Given the description of an element on the screen output the (x, y) to click on. 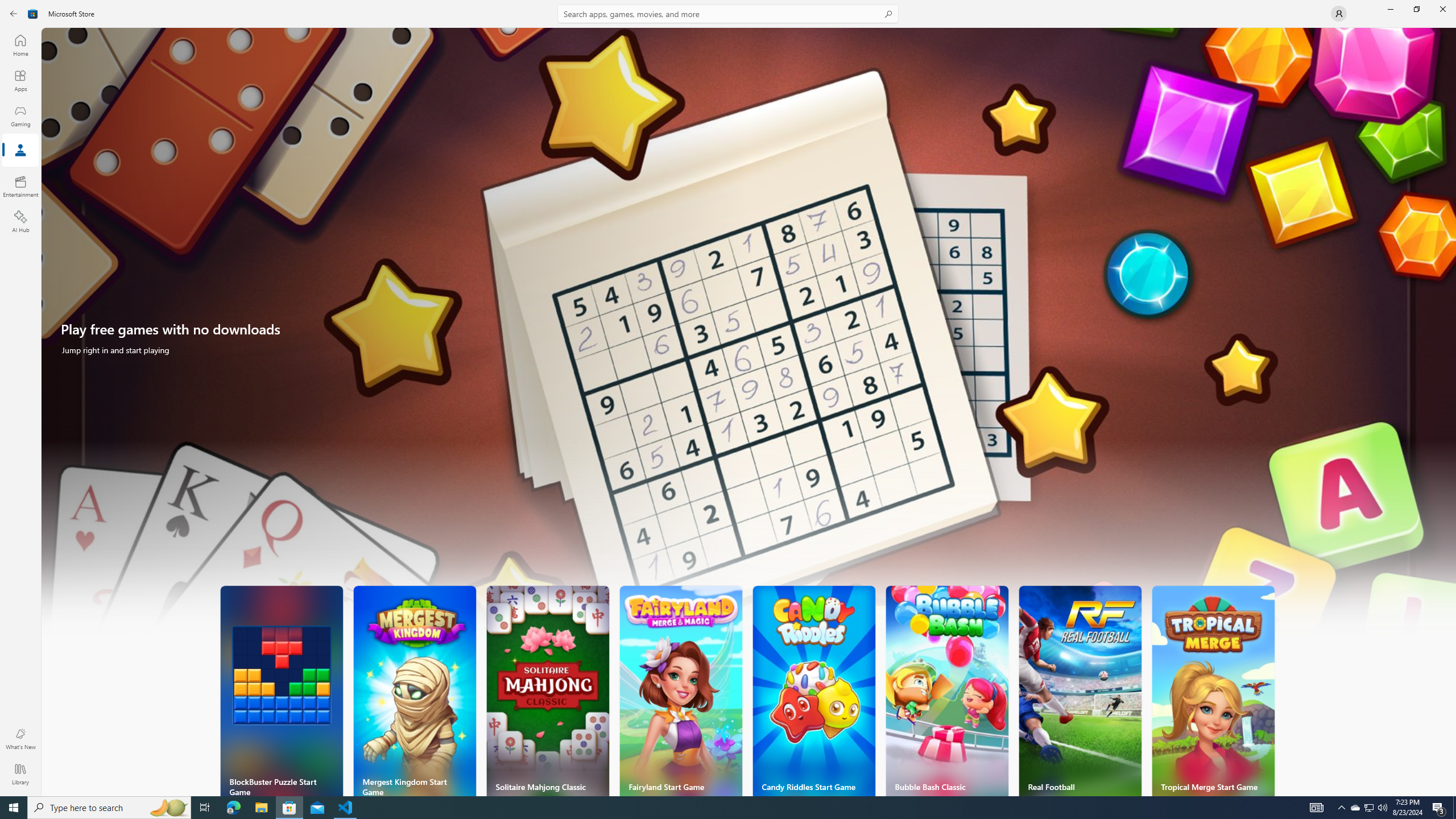
Close Microsoft Store (1442, 9)
Library (20, 773)
Arcade (20, 150)
Class: Image (32, 13)
Gaming (20, 115)
Search (727, 13)
Restore Microsoft Store (1416, 9)
Back (13, 13)
Minimize Microsoft Store (1390, 9)
Home (20, 45)
